Given the description of an element on the screen output the (x, y) to click on. 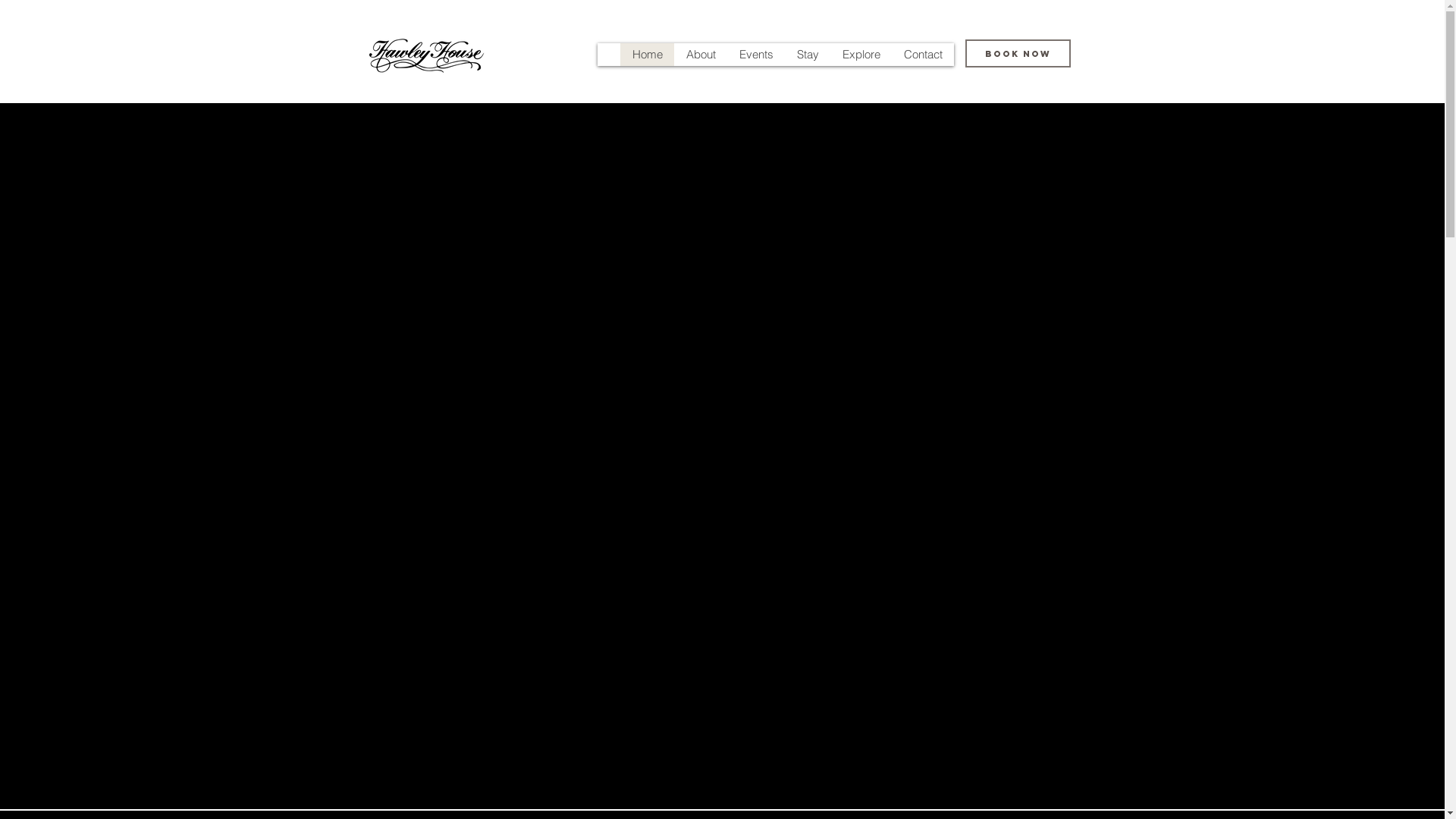
About Element type: text (699, 54)
Exclusive boutique event venue Element type: hover (425, 55)
Explore Element type: text (860, 54)
Events Element type: text (755, 54)
Stay Element type: text (806, 54)
Contact Element type: text (922, 54)
BOOK NOW Element type: text (1017, 53)
Home Element type: text (647, 54)
